Given the description of an element on the screen output the (x, y) to click on. 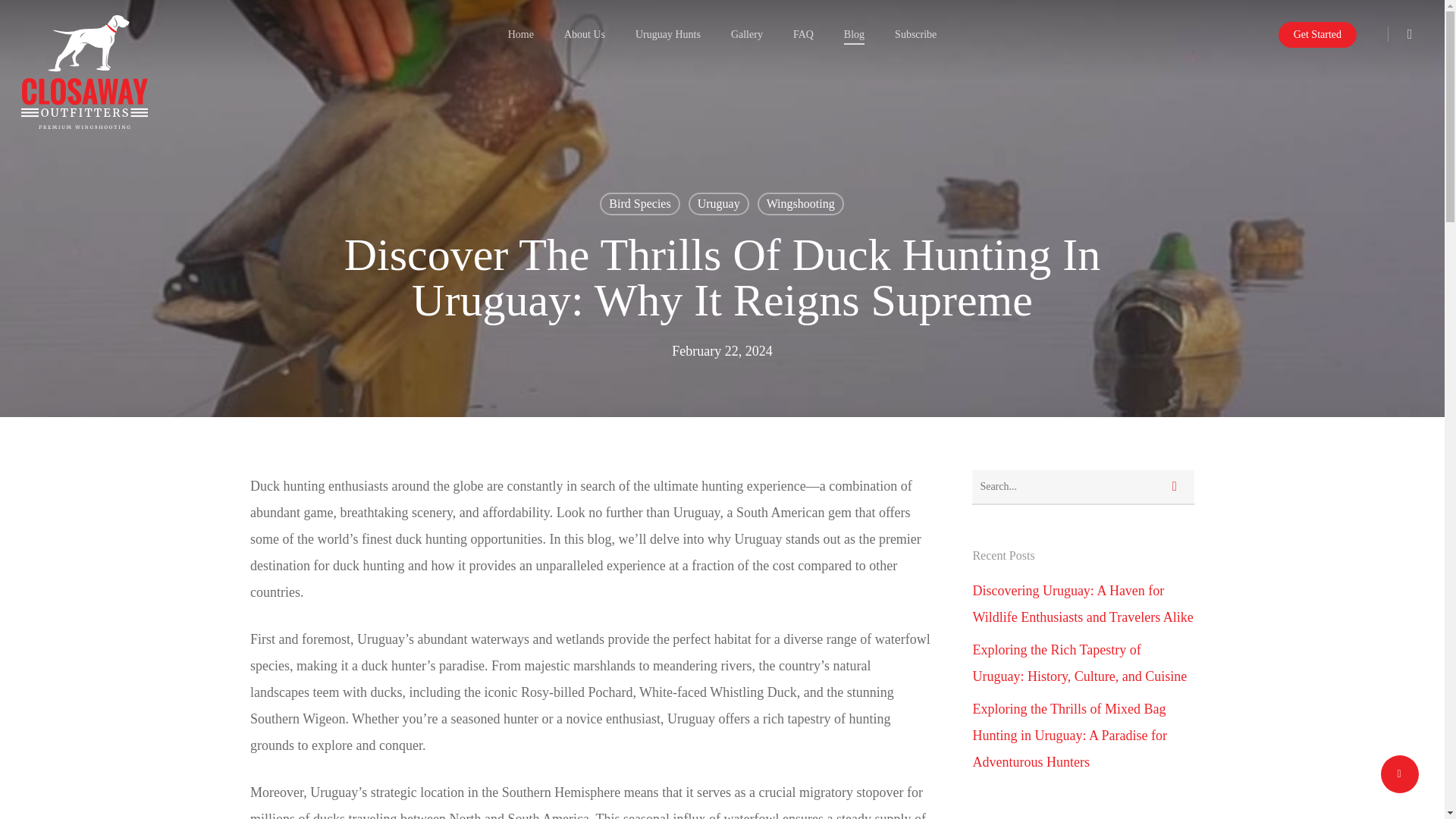
Home (521, 33)
Get Started (1317, 33)
Uruguay (718, 203)
Gallery (746, 33)
Subscribe (915, 33)
search (1416, 33)
Bird Species (639, 203)
Wingshooting (800, 203)
FAQ (803, 33)
Blog (854, 33)
Search for: (1082, 487)
Uruguay Hunts (667, 33)
